Given the description of an element on the screen output the (x, y) to click on. 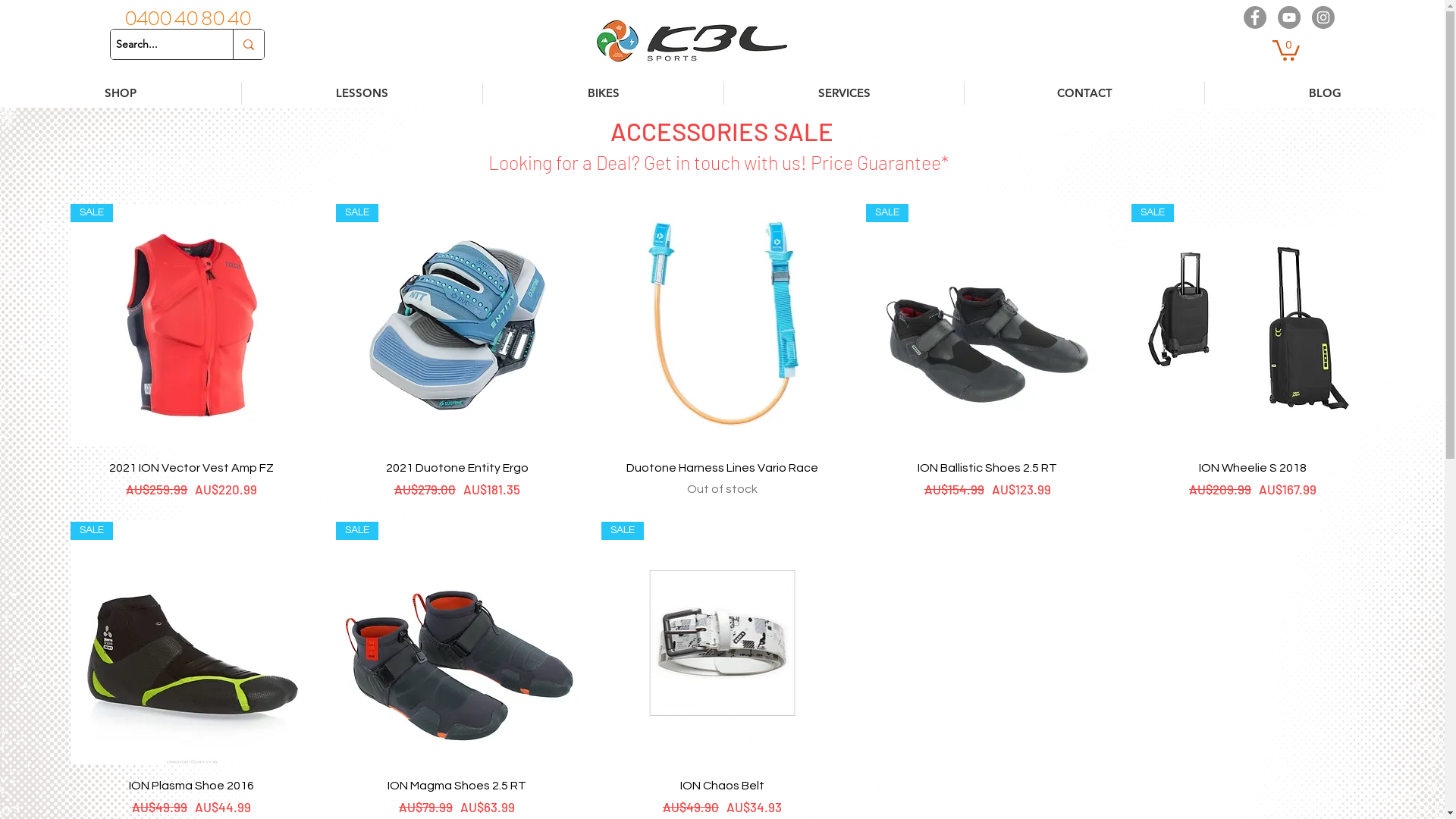
SALE Element type: text (987, 324)
LESSONS Element type: text (361, 92)
SALE Element type: text (456, 642)
SALE Element type: text (456, 324)
SERVICES Element type: text (843, 92)
SALE Element type: text (191, 642)
SALE Element type: text (191, 324)
SHOP Element type: text (120, 92)
SALE Element type: text (722, 642)
0 Element type: text (1285, 48)
BLOG Element type: text (1324, 92)
CONTACT Element type: text (1084, 92)
SALE Element type: text (1252, 324)
Duotone Harness Lines Vario Race
Out of stock Element type: text (722, 478)
ION Chaos Belt
Regular Price
AU$49.90
Sale Price
AU$34.93 Element type: text (722, 796)
BIKES Element type: text (603, 92)
